Given the description of an element on the screen output the (x, y) to click on. 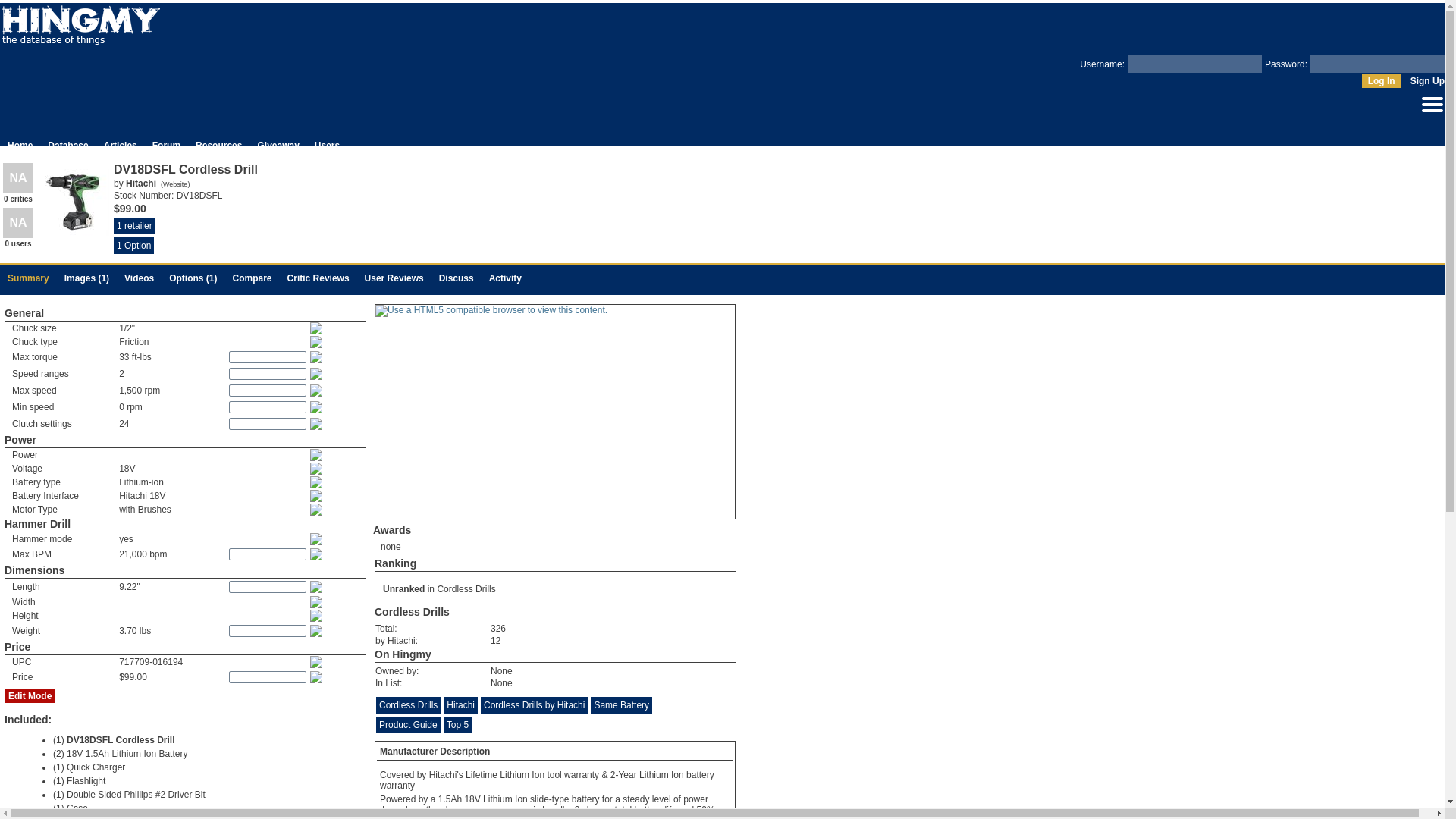
This product has not been reviewed by a critic yet. (17, 177)
Log In (1380, 80)
Summary (28, 277)
Database (67, 145)
The maximum torque the tool achieves. (317, 357)
The size of the chuck mounted on the tool. (317, 328)
1 Option (133, 245)
Website (175, 184)
Giveaway (277, 145)
